Given the description of an element on the screen output the (x, y) to click on. 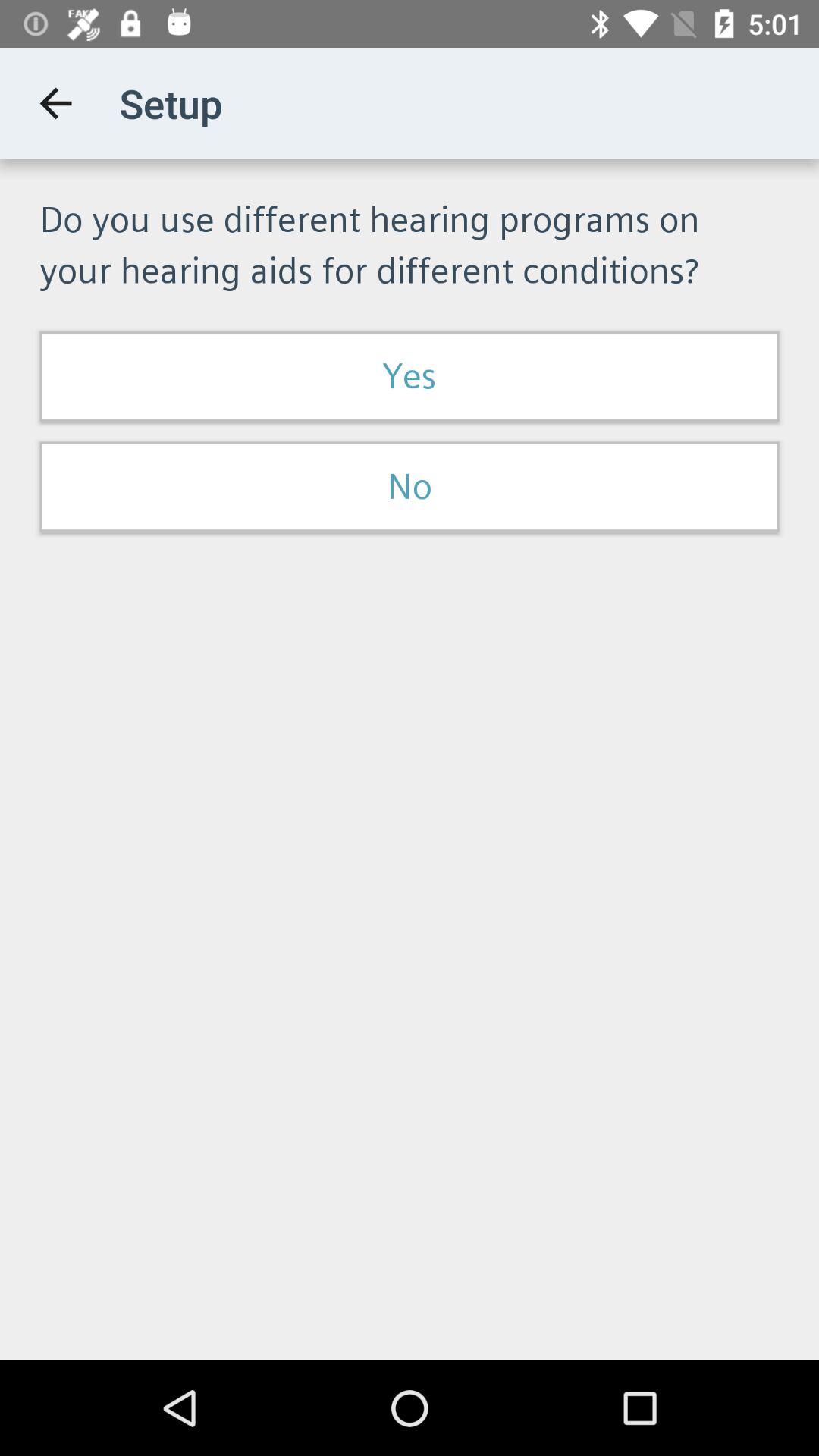
launch the icon below do you use icon (409, 376)
